Given the description of an element on the screen output the (x, y) to click on. 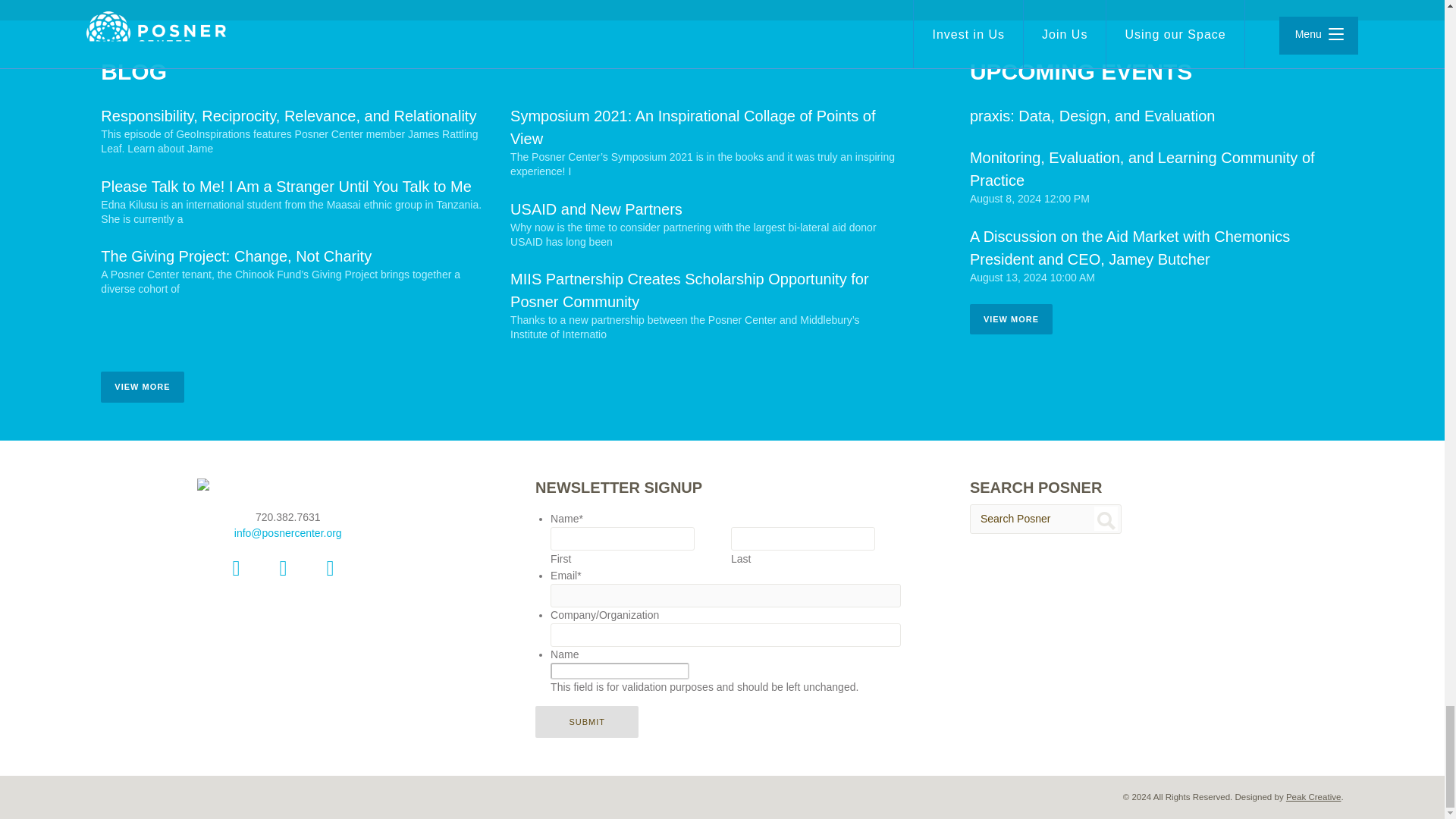
Search Posner (1045, 518)
Submit (587, 721)
